Given the description of an element on the screen output the (x, y) to click on. 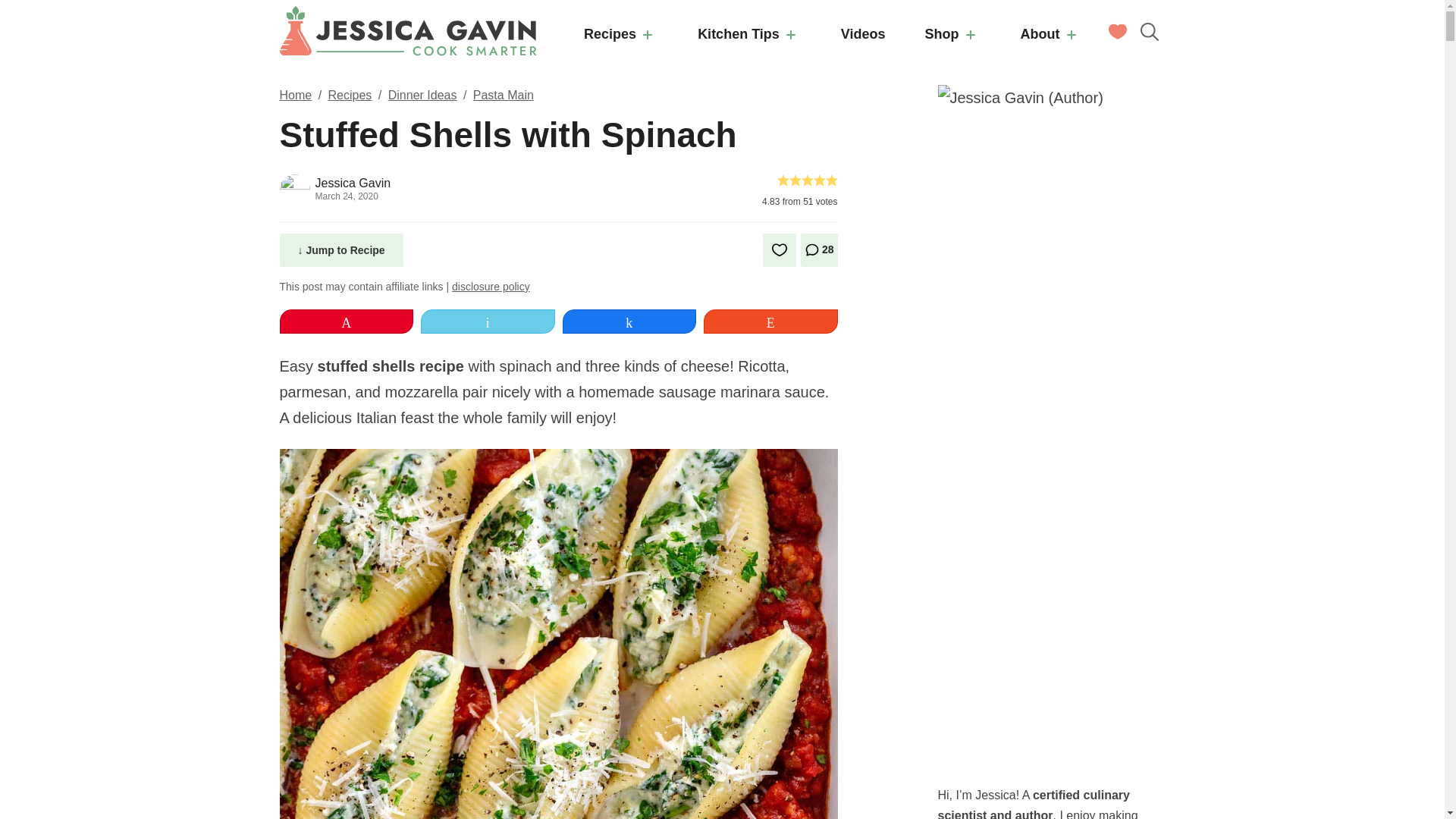
Videos (863, 35)
About (1051, 35)
Shop (953, 35)
Kitchen Tips (749, 35)
Jessica Gavin (408, 30)
Recipes (621, 35)
